Given the description of an element on the screen output the (x, y) to click on. 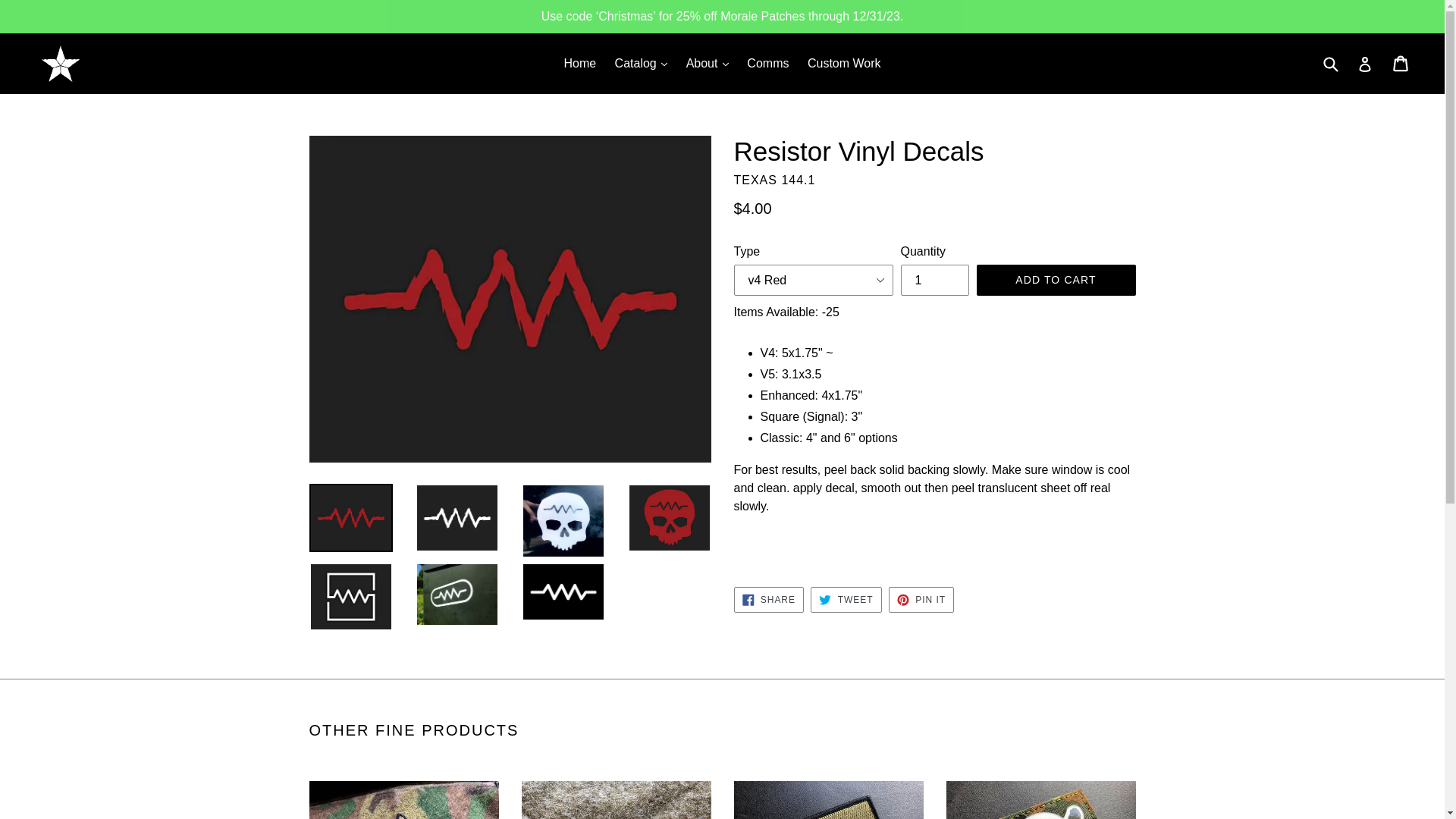
Log in Element type: text (1364, 63)
TWEET
TWEET ON TWITTER Element type: text (845, 599)
Submit Element type: text (1329, 62)
Home Element type: text (579, 63)
Comms Element type: text (767, 63)
Custom Work Element type: text (844, 63)
Cart
Cart Element type: text (1401, 63)
ADD TO CART Element type: text (1055, 280)
SHARE
SHARE ON FACEBOOK Element type: text (768, 599)
PIN IT
PIN ON PINTEREST Element type: text (920, 599)
